Given the description of an element on the screen output the (x, y) to click on. 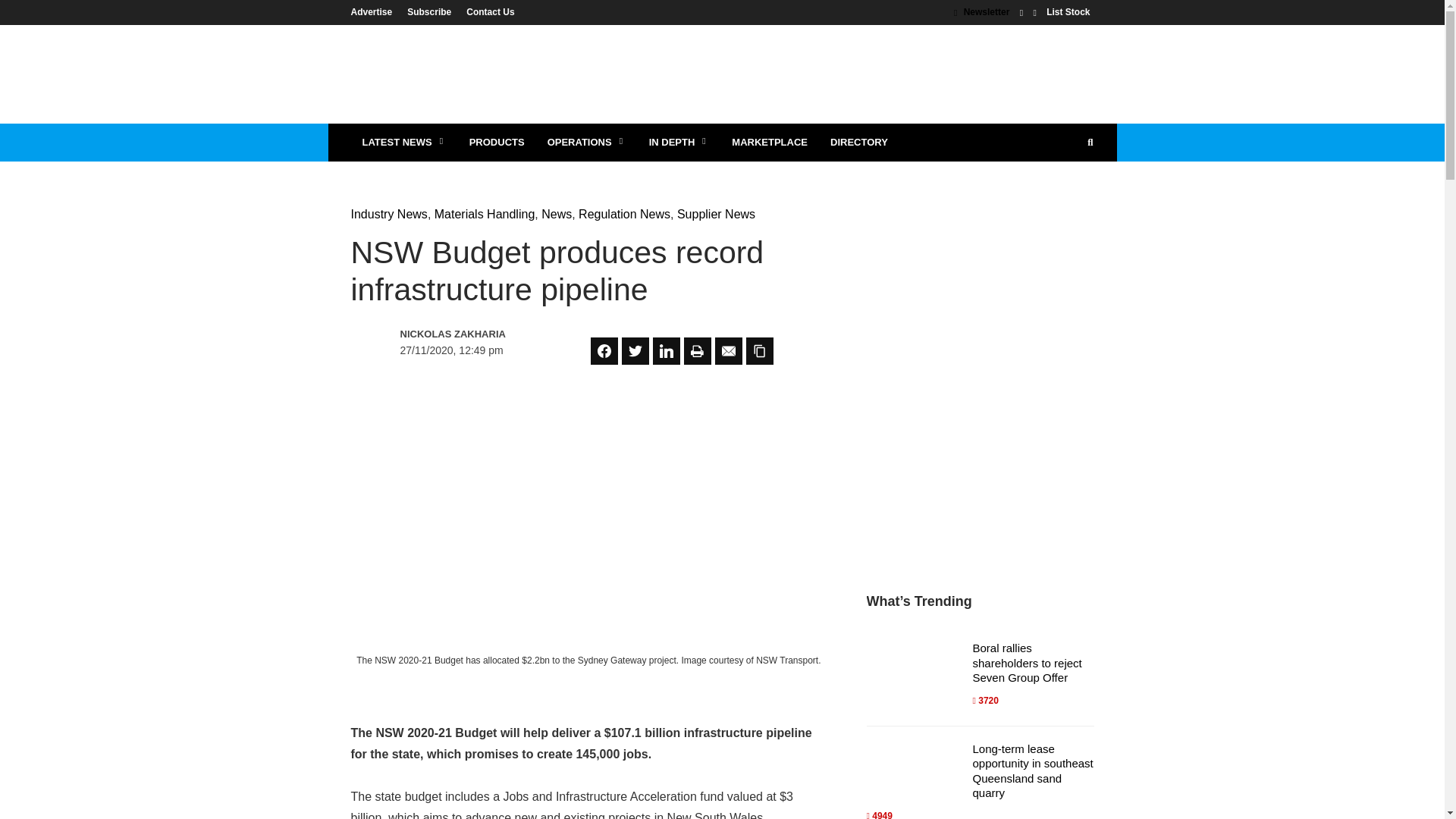
DIRECTORY (858, 142)
Share on LinkedIn (665, 350)
Materials Handling (484, 214)
Share on Copy Link (759, 350)
LATEST NEWS (403, 142)
Newsletter (981, 11)
Advertise (374, 11)
PRODUCTS (496, 142)
IN DEPTH (678, 142)
Share on Facebook (604, 350)
News (556, 214)
OPERATIONS (586, 142)
Industry News (388, 214)
Share on Twitter (635, 350)
Share on Email (728, 350)
